Given the description of an element on the screen output the (x, y) to click on. 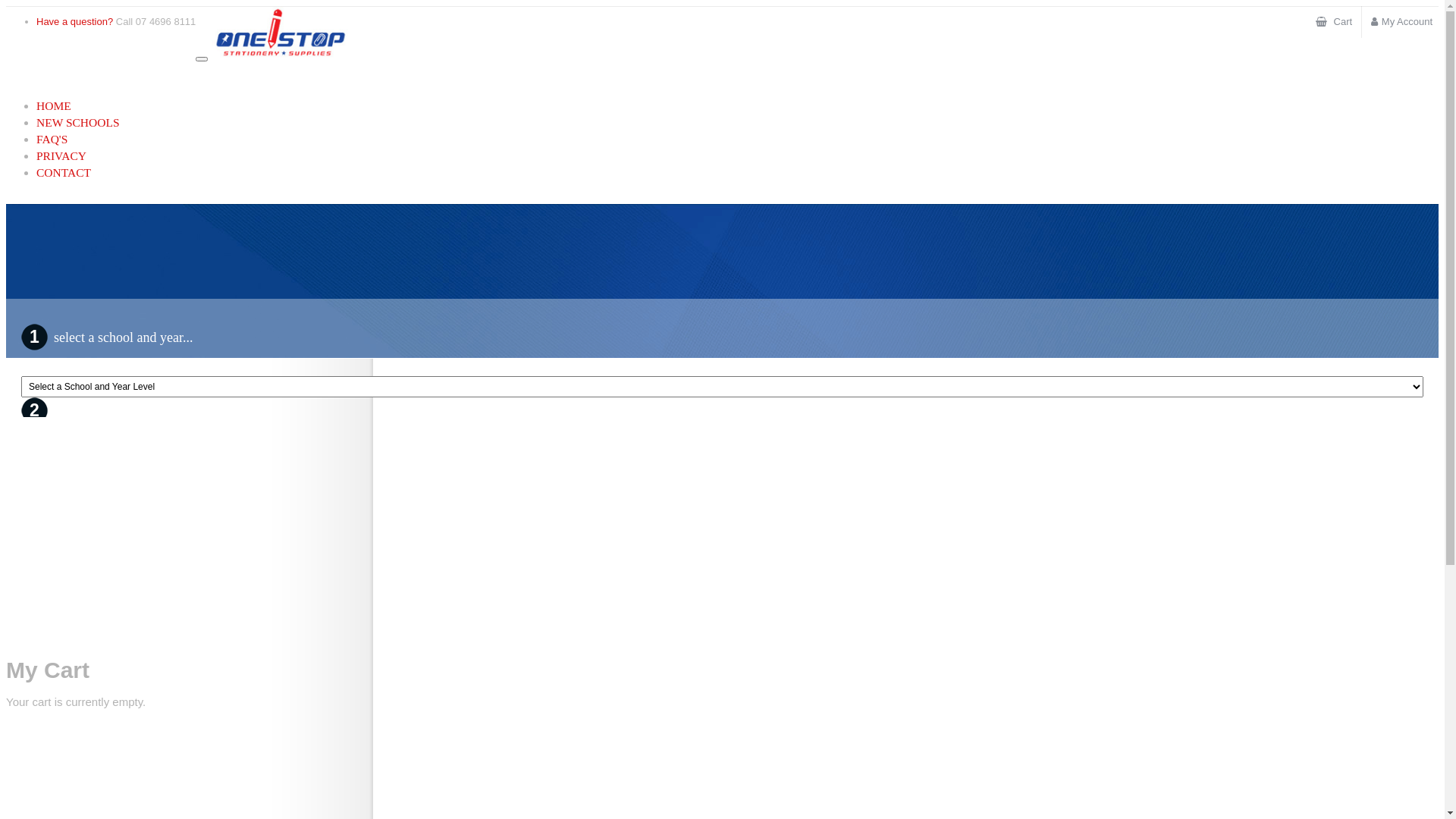
FAQ'S Element type: text (51, 138)
Cart Element type: text (1333, 21)
view book list Element type: text (66, 517)
My Account Element type: text (1401, 21)
NEW SCHOOLS Element type: text (77, 122)
HOME Element type: text (53, 105)
PRIVACY Element type: text (61, 155)
CONTACT Element type: text (63, 172)
